Given the description of an element on the screen output the (x, y) to click on. 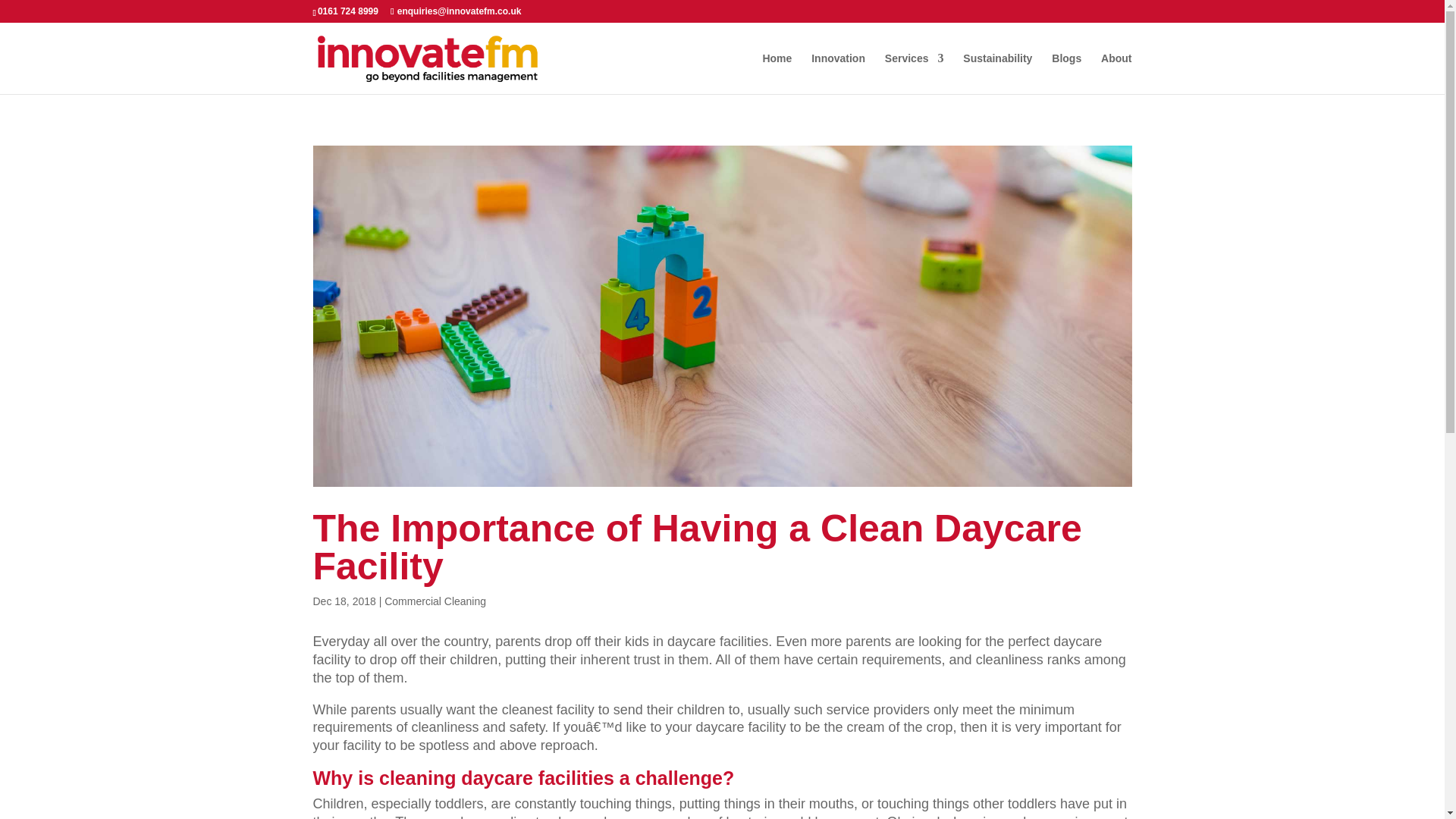
0161 724 8999 (347, 10)
Services (914, 73)
Commercial Cleaning (435, 601)
Sustainability (997, 73)
Innovation (837, 73)
